Given the description of an element on the screen output the (x, y) to click on. 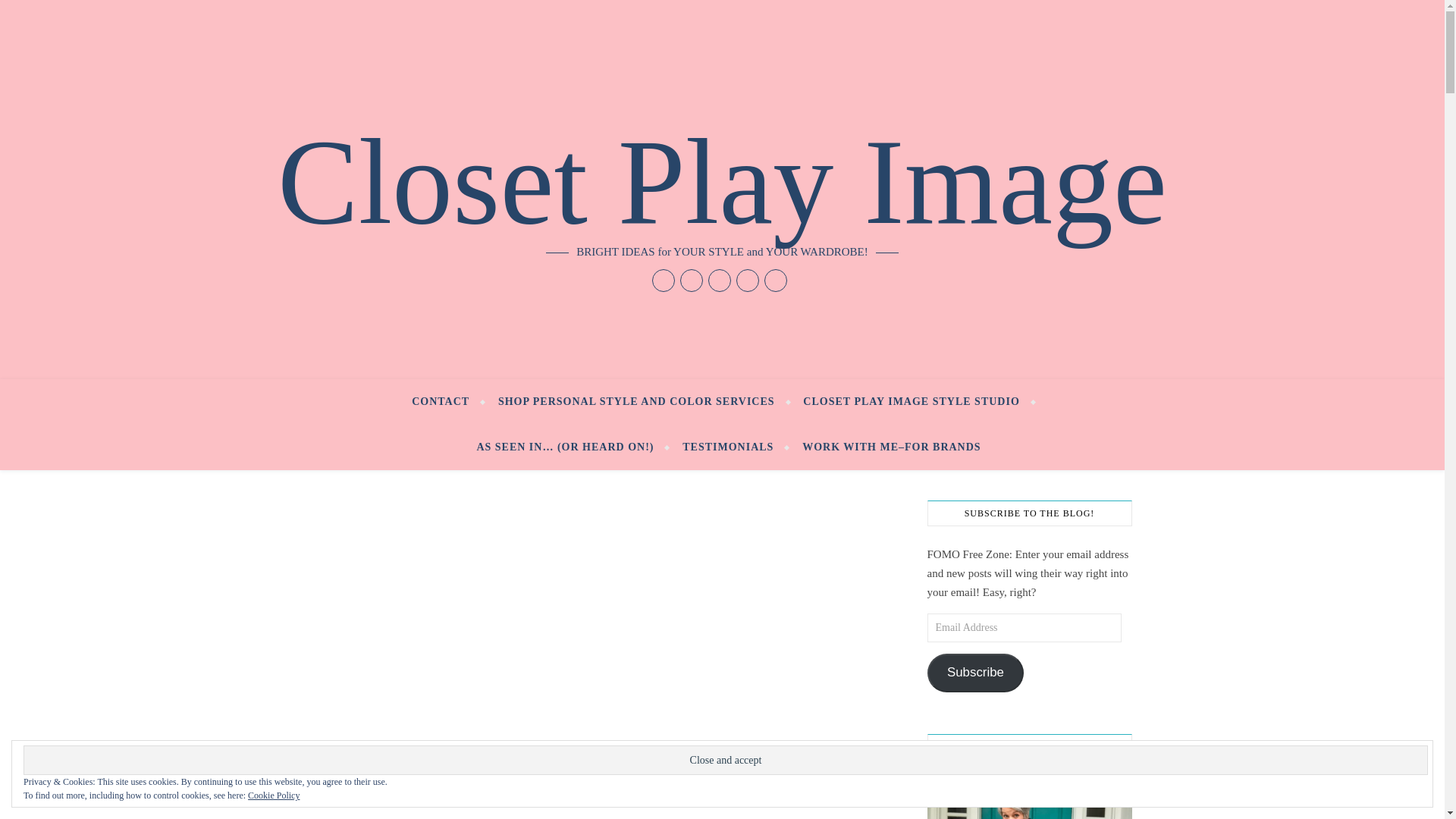
TESTIMONIALS (727, 447)
SHOP PERSONAL STYLE AND COLOR SERVICES (635, 402)
Close and accept (725, 759)
CLOSET PLAY IMAGE STYLE STUDIO (911, 402)
Closet Play Image (722, 181)
CONTACT (446, 402)
